Given the description of an element on the screen output the (x, y) to click on. 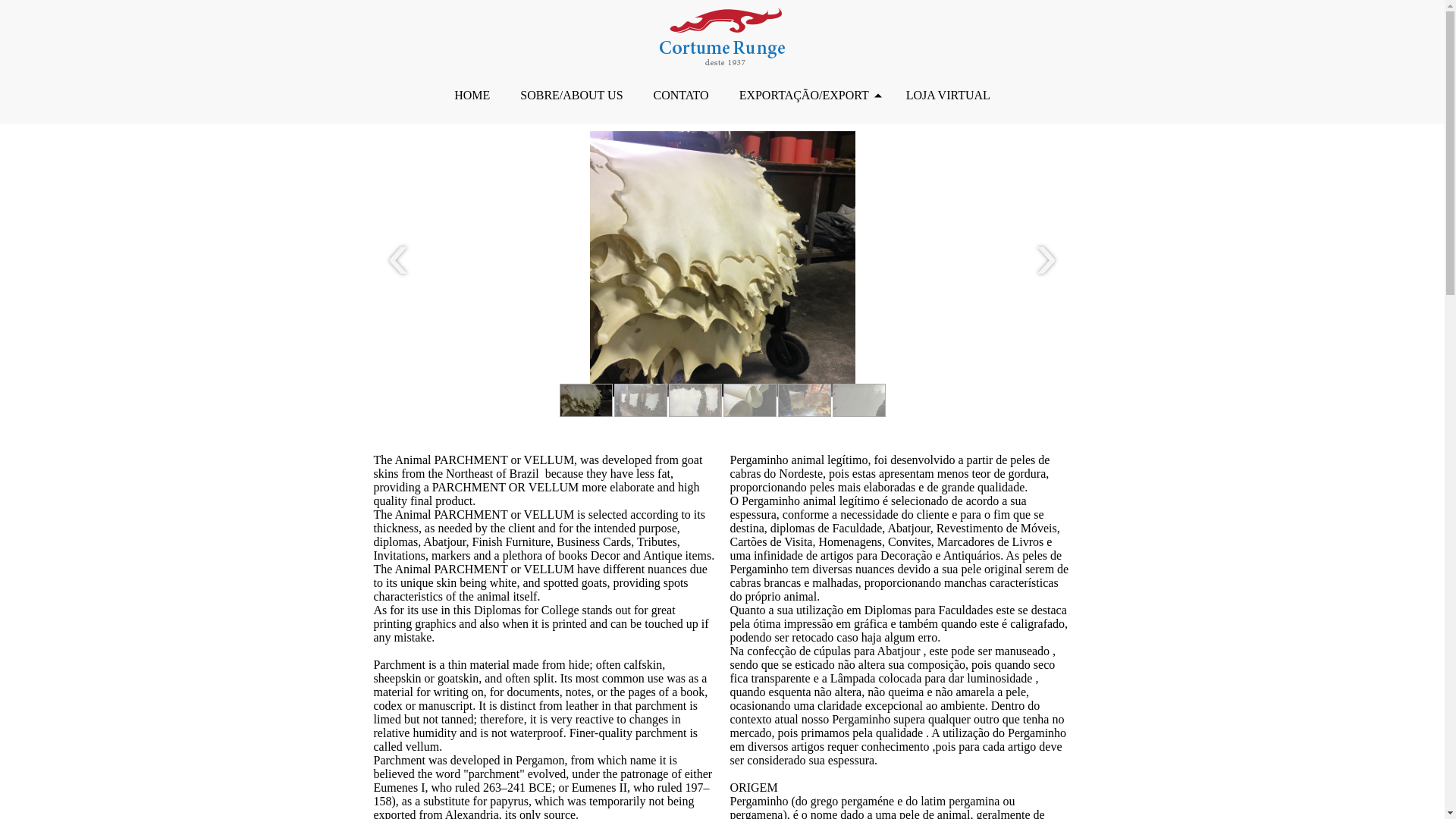
CONTATO (681, 95)
LOJA VIRTUAL (948, 95)
HOME (472, 95)
logotipo-cortume-runge.png (721, 36)
